Given the description of an element on the screen output the (x, y) to click on. 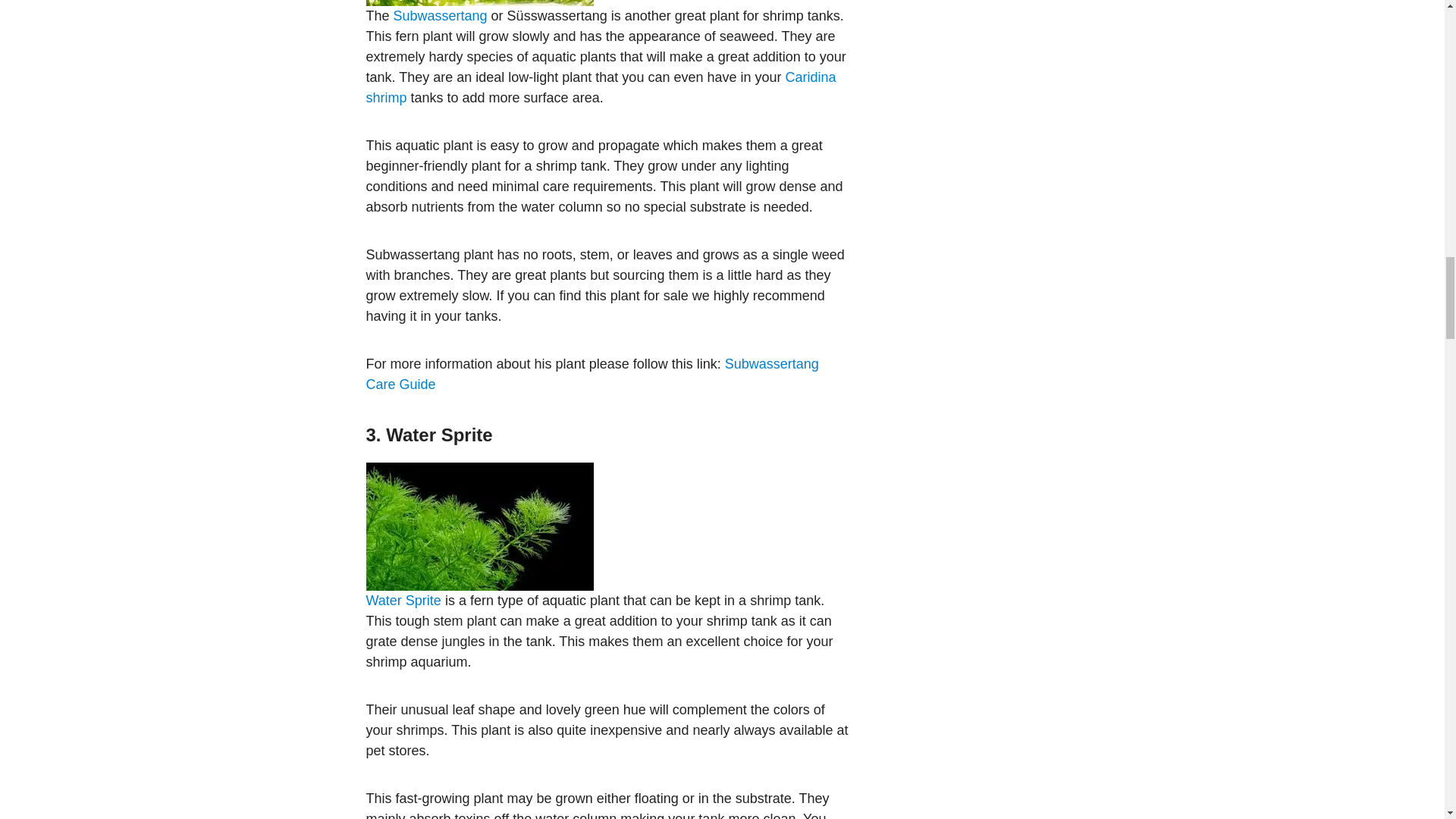
Subwassertang Care Guide (591, 374)
Subwassertang (440, 15)
Water Sprite (403, 600)
Caridina shrimp (600, 87)
